Given the description of an element on the screen output the (x, y) to click on. 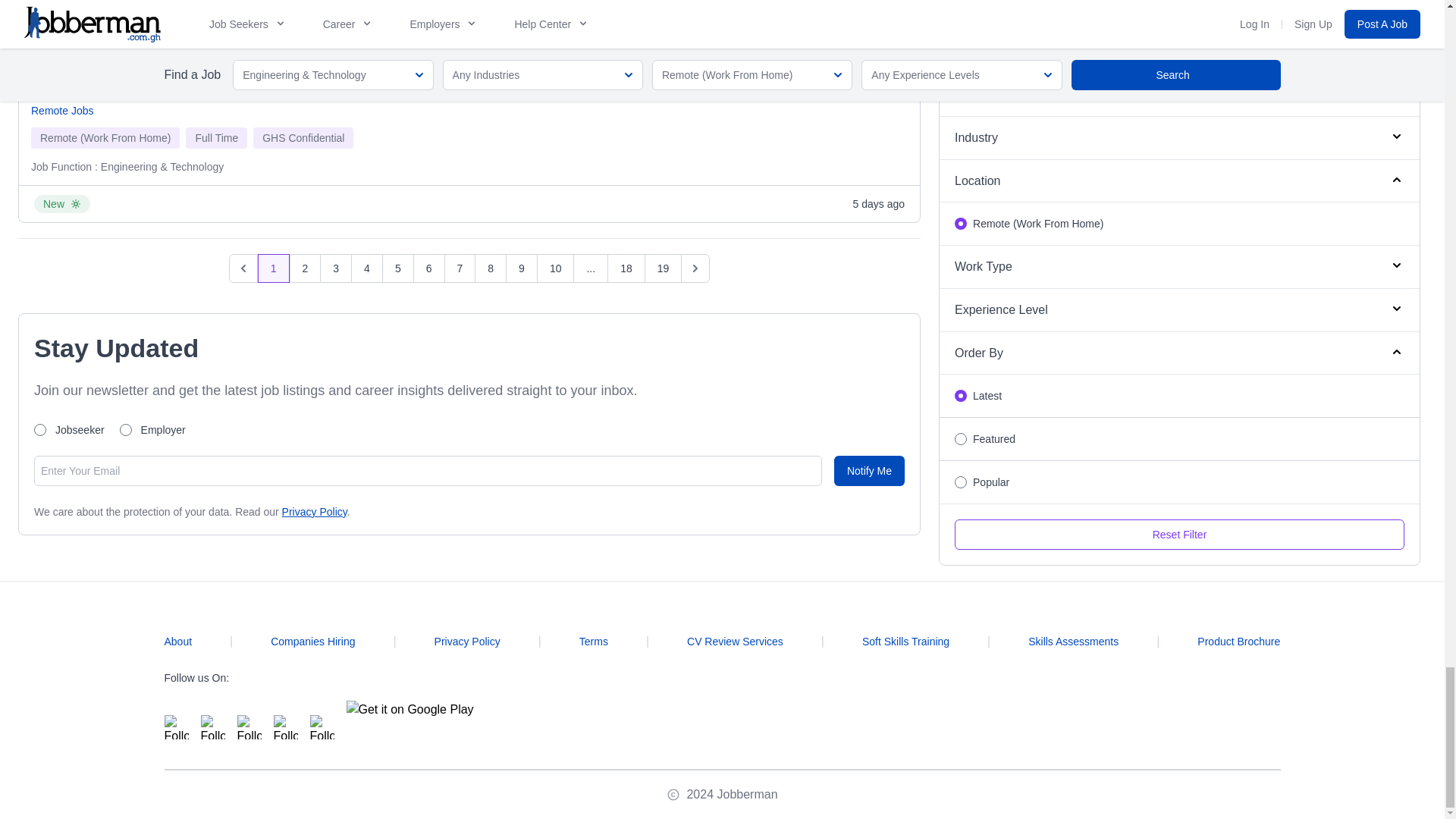
employer (125, 429)
jobseeker (39, 429)
Supervisor, Compliance Screening (135, 83)
